Given the description of an element on the screen output the (x, y) to click on. 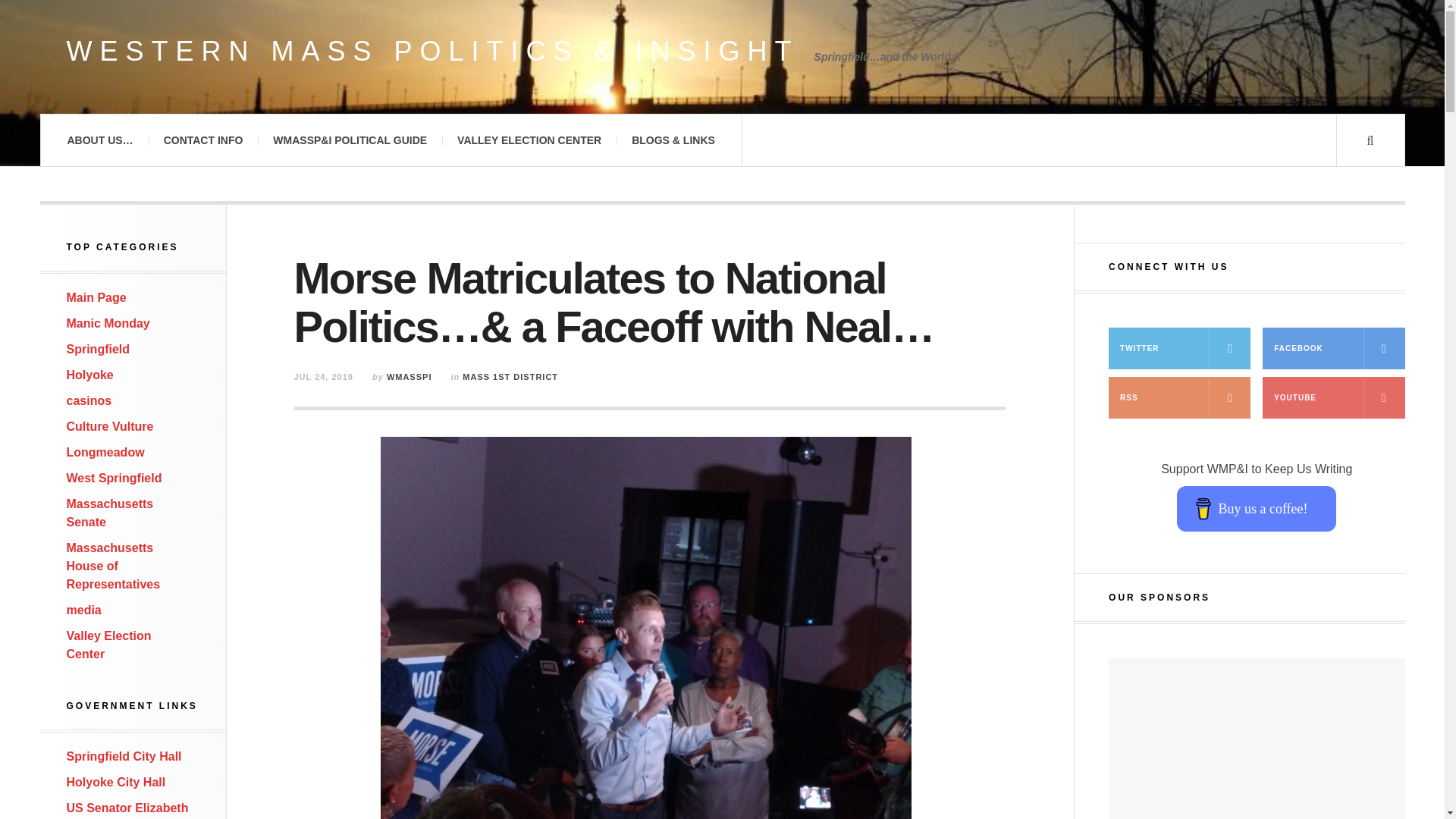
Massachusetts Senate (110, 512)
Valley Election Center (108, 644)
Main Page (96, 297)
Massachusetts House of Representatives (113, 565)
Holyoke City Hall (115, 781)
US Senator Elizabeth Warren (127, 810)
Culture Vulture (110, 426)
Go Home (96, 297)
Advertisement (1256, 738)
VALLEY ELECTION CENTER (528, 140)
View all posts in Mass 1st District (510, 376)
Manic Monday (107, 323)
casinos (89, 400)
CONTACT INFO (203, 140)
Longmeadow (105, 451)
